Given the description of an element on the screen output the (x, y) to click on. 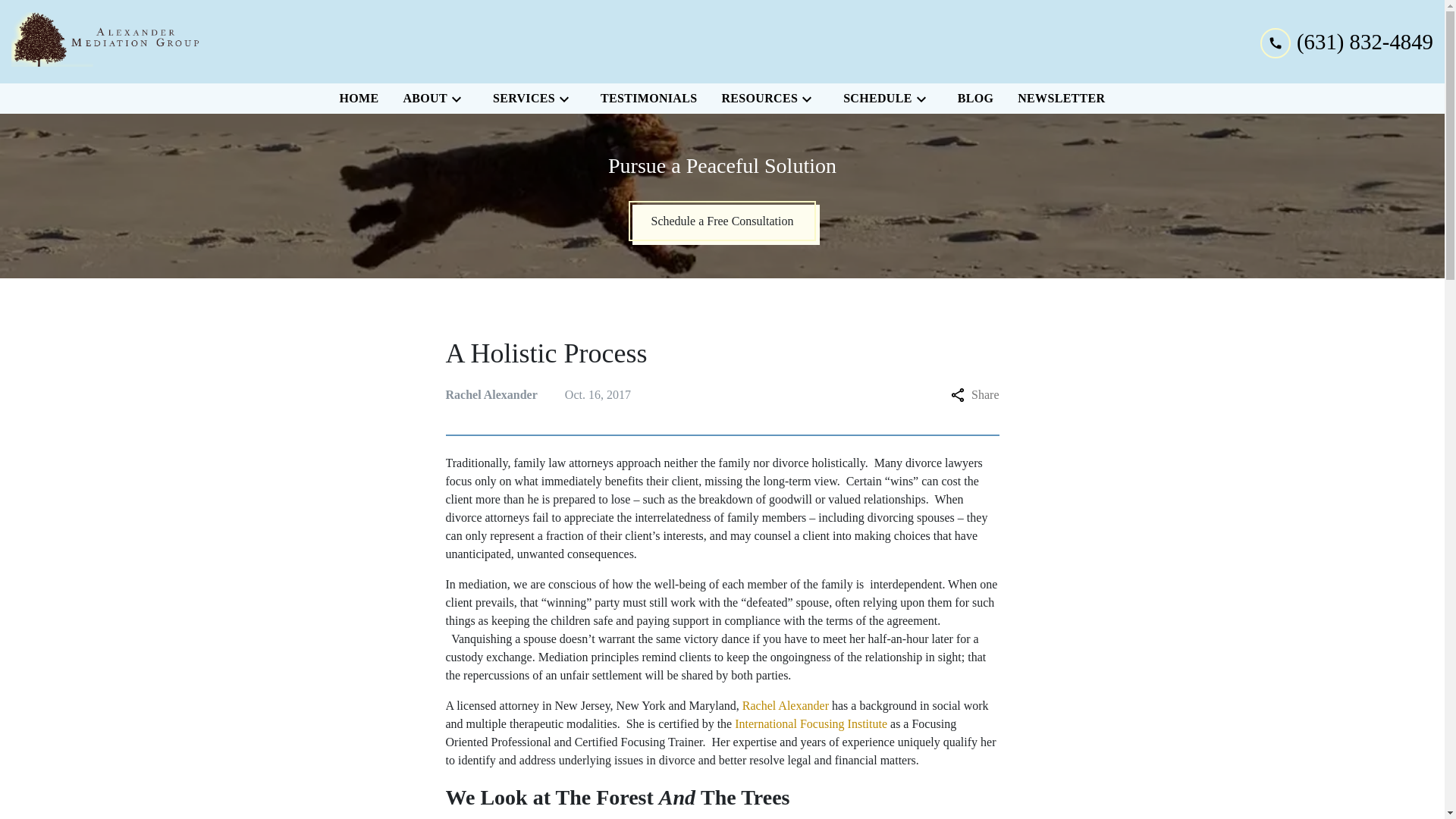
TESTIMONIALS (648, 98)
HOME (359, 98)
RESOURCES (755, 98)
ABOUT (421, 98)
SERVICES (520, 98)
